Given the description of an element on the screen output the (x, y) to click on. 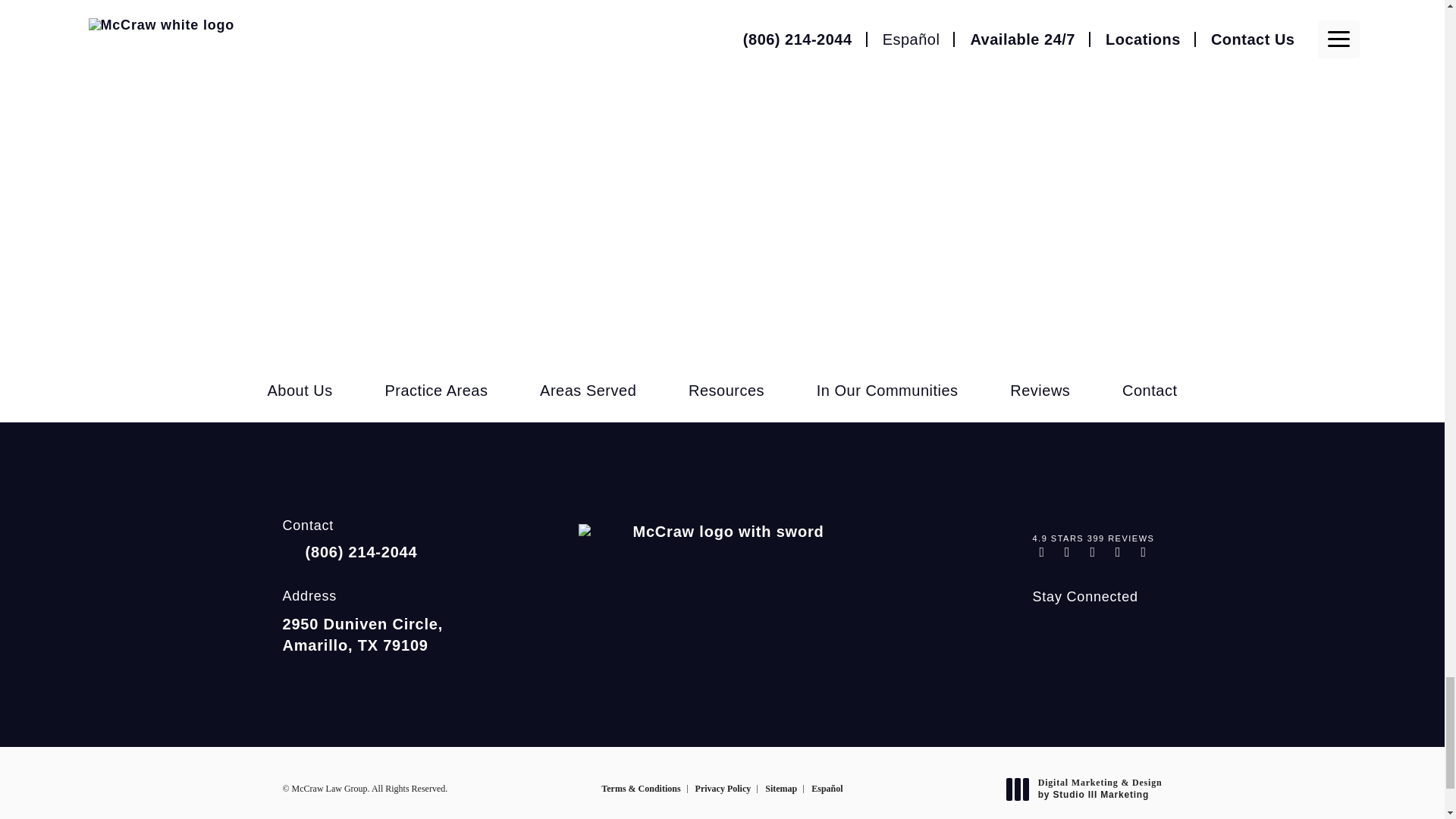
McCraw Law Group on Instagram (1042, 628)
